Given the description of an element on the screen output the (x, y) to click on. 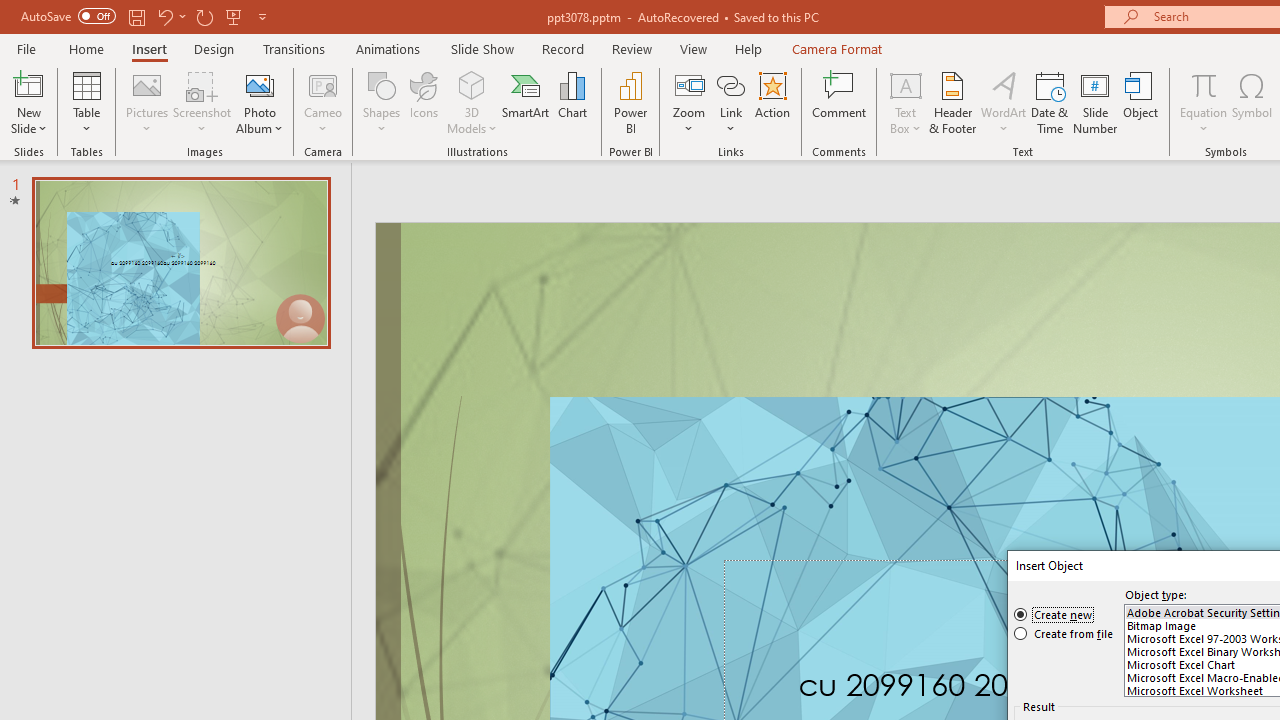
Date & Time... (1050, 102)
Comment (839, 102)
SmartArt... (525, 102)
WordArt (1004, 102)
Action (772, 102)
New Photo Album... (259, 84)
